Given the description of an element on the screen output the (x, y) to click on. 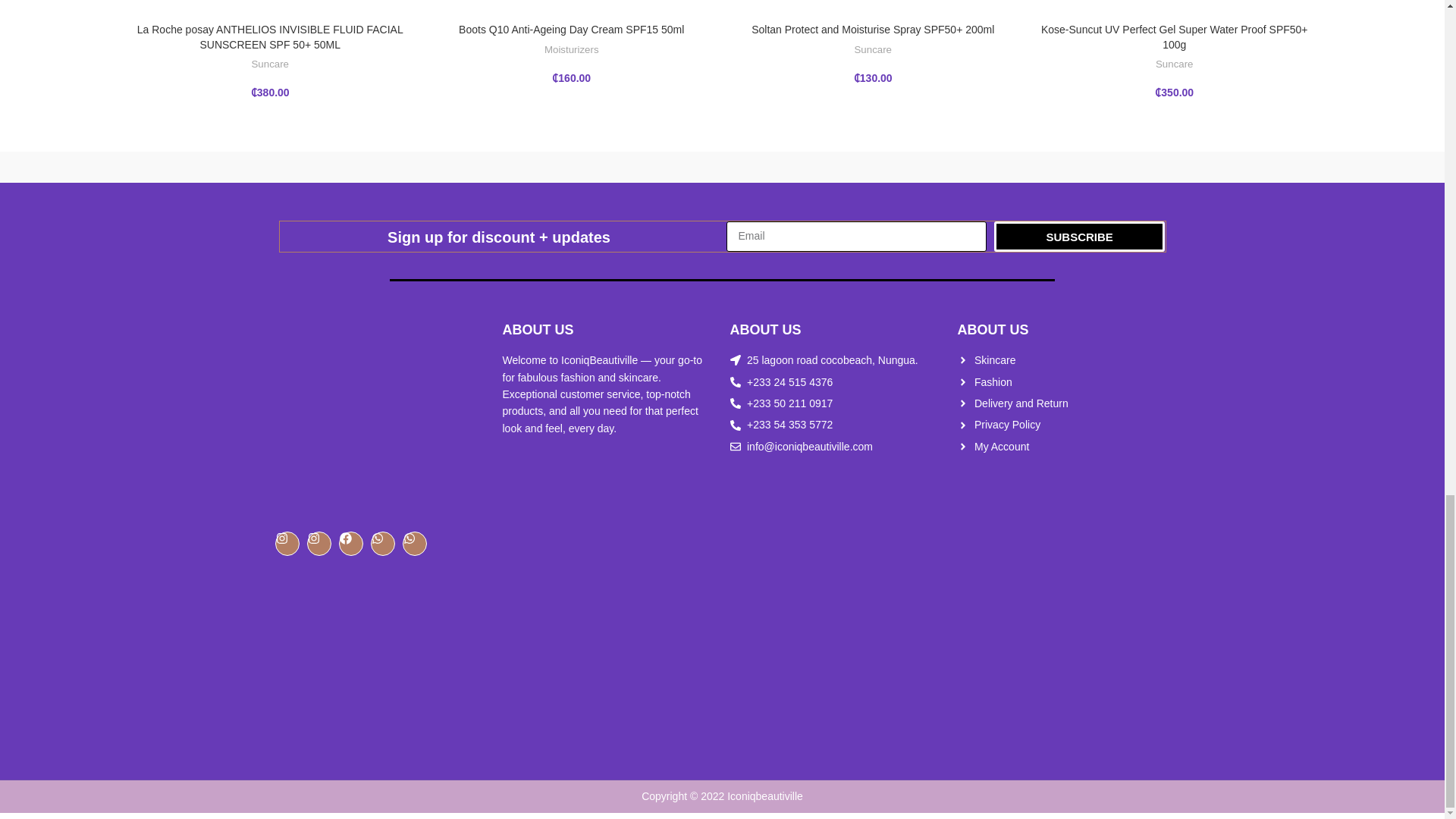
Cerave (1061, 166)
Olay (382, 166)
Relumins (212, 166)
Black girl sunscreen (1232, 166)
Kojie san (552, 166)
good molecules (721, 166)
Garnier (892, 166)
